Given the description of an element on the screen output the (x, y) to click on. 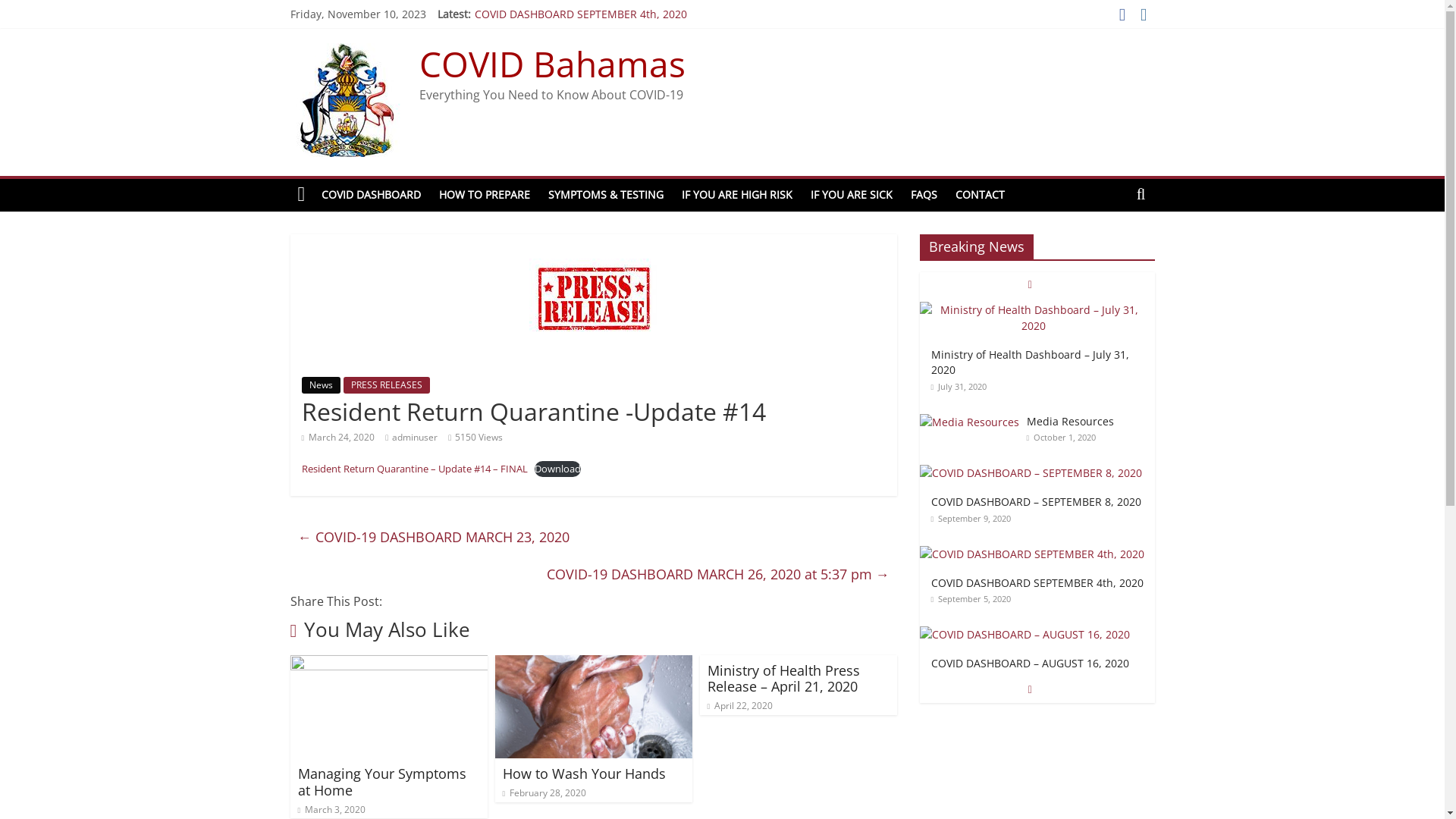
February 28, 2020 Element type: text (544, 792)
March 3, 2020 Element type: text (331, 809)
Media Resources Element type: text (1069, 501)
COVID Bahamas Element type: text (551, 63)
CONTACT Element type: text (979, 194)
COVID DASHBOARD Element type: text (370, 194)
COVID Bahamas Element type: hover (300, 194)
August 7, 2020 Element type: text (963, 354)
News Element type: text (320, 384)
How to Wash Your Hands Element type: text (583, 773)
Download Element type: text (557, 468)
How to Wash Your Hands Element type: hover (592, 663)
Managing Your Symptoms at Home Element type: text (381, 781)
October 1, 2020 Element type: text (1061, 518)
Managing Your Symptoms at Home Element type: hover (387, 663)
July 31, 2020 Element type: text (959, 466)
March 24, 2020 Element type: text (338, 436)
Media Resources Element type: hover (968, 421)
COVID DASHBOARD SEPTEMBER 4th, 2020 Element type: hover (1031, 553)
HOW TO PREPARE Element type: text (484, 194)
SYMPTOMS & TESTING Element type: text (605, 194)
April 22, 2020 Element type: text (739, 705)
COVID DASHBOARD -AUGUST 6, 2020 Element type: text (1037, 323)
Media Resources Element type: hover (968, 421)
PRESS RELEASES Element type: text (385, 384)
IF YOU ARE SICK Element type: text (851, 194)
COVID DASHBOARD SEPTEMBER 4th, 2020 Element type: text (1037, 663)
September 9, 2020 Element type: text (971, 599)
COVID DASHBOARD SEPTEMBER 4th, 2020 Element type: hover (1031, 553)
IF YOU ARE HIGH RISK Element type: text (736, 194)
adminuser Element type: text (414, 436)
FAQS Element type: text (923, 194)
September 5, 2020 Element type: text (971, 679)
